Given the description of an element on the screen output the (x, y) to click on. 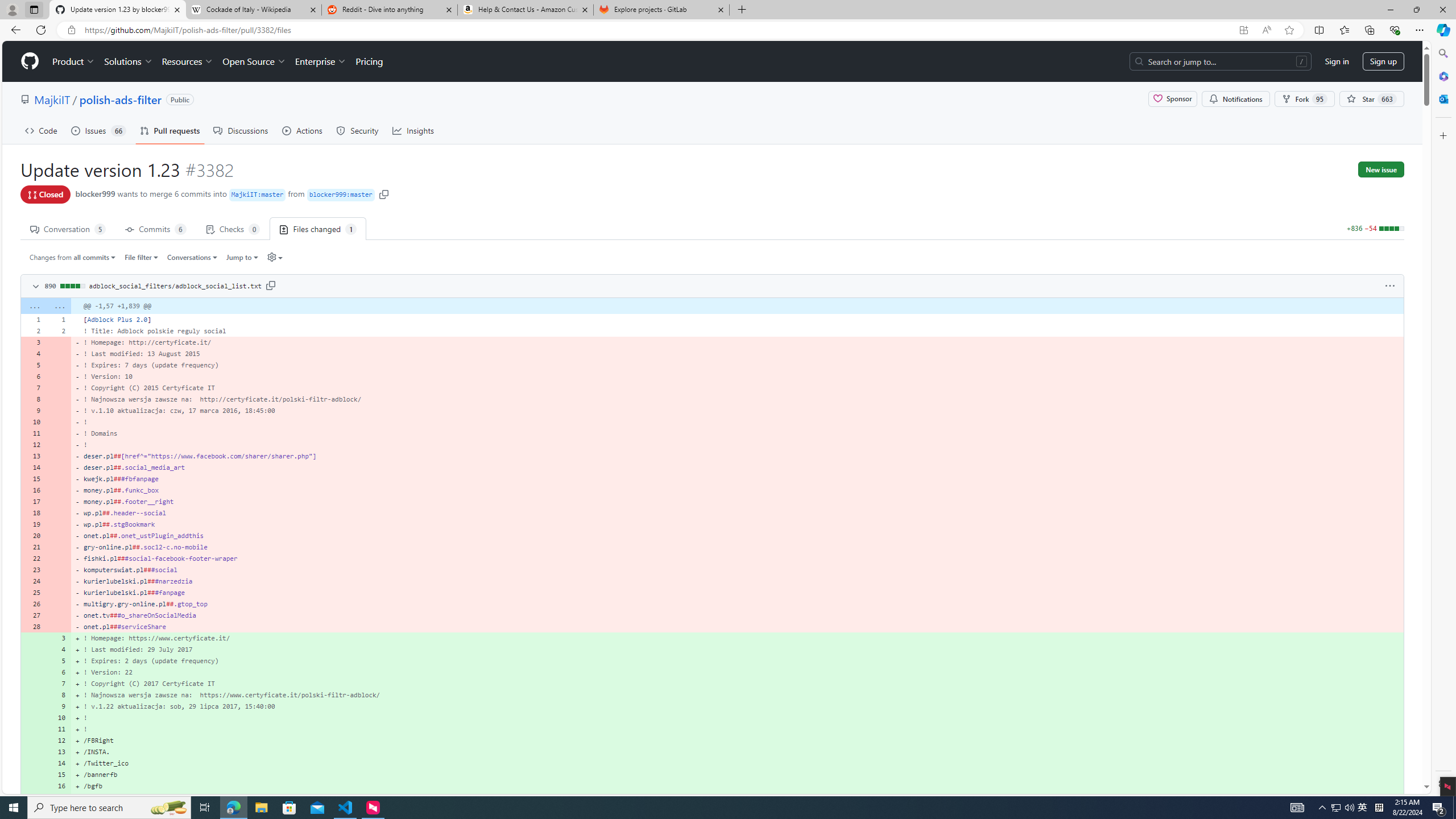
15 (58, 774)
 Commits 6 (155, 228)
- wp.pl##.header--social (737, 512)
Resources (187, 60)
+ ! Last modified: 29 July 2017 (737, 649)
Security (357, 130)
Code (41, 130)
MajkiIT (51, 99)
adblock_social_filters/adblock_social_list.txt (175, 285)
